Given the description of an element on the screen output the (x, y) to click on. 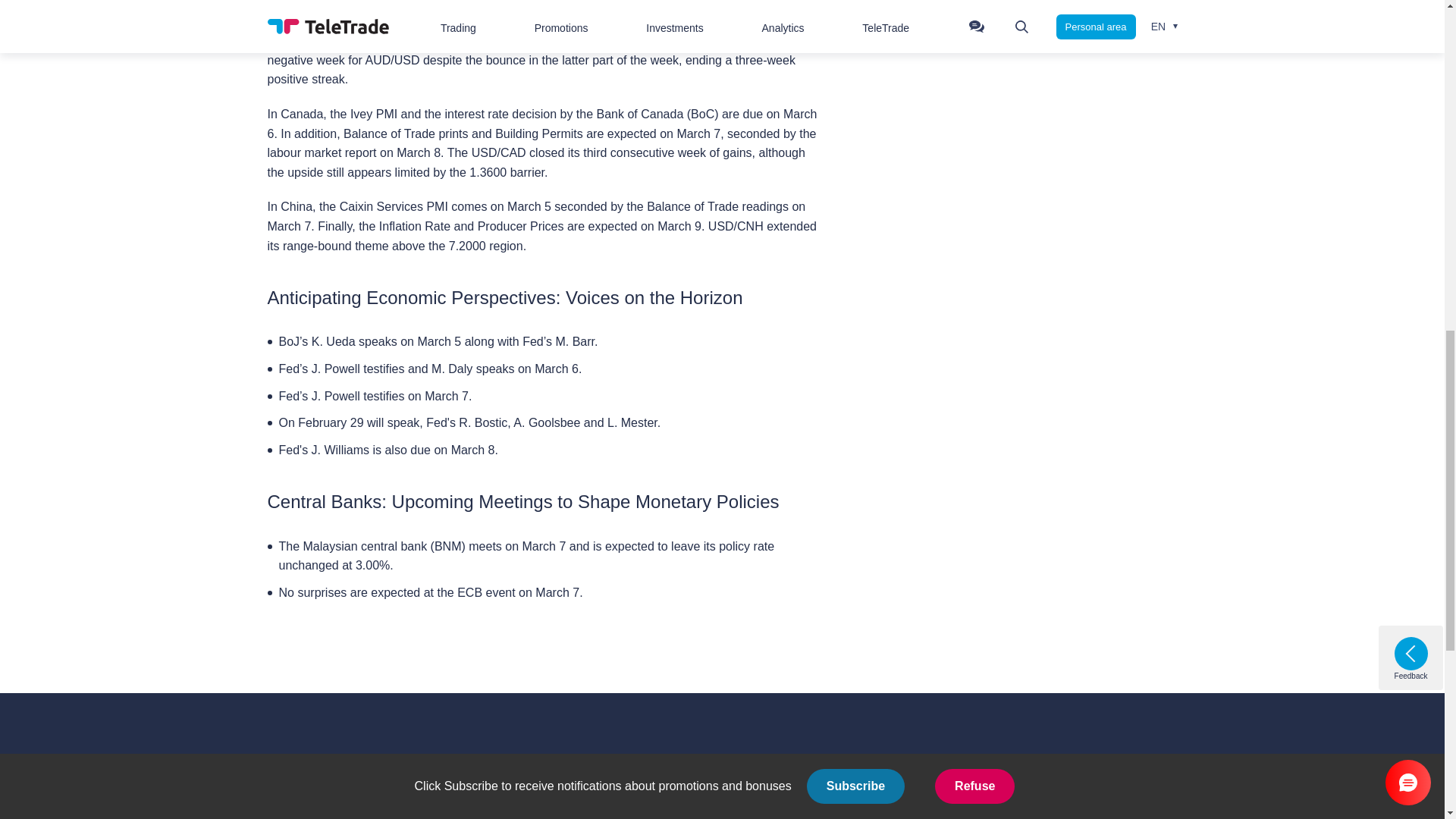
Gold price rebounds off two-week lows amid lower US yields (1020, 23)
